Given the description of an element on the screen output the (x, y) to click on. 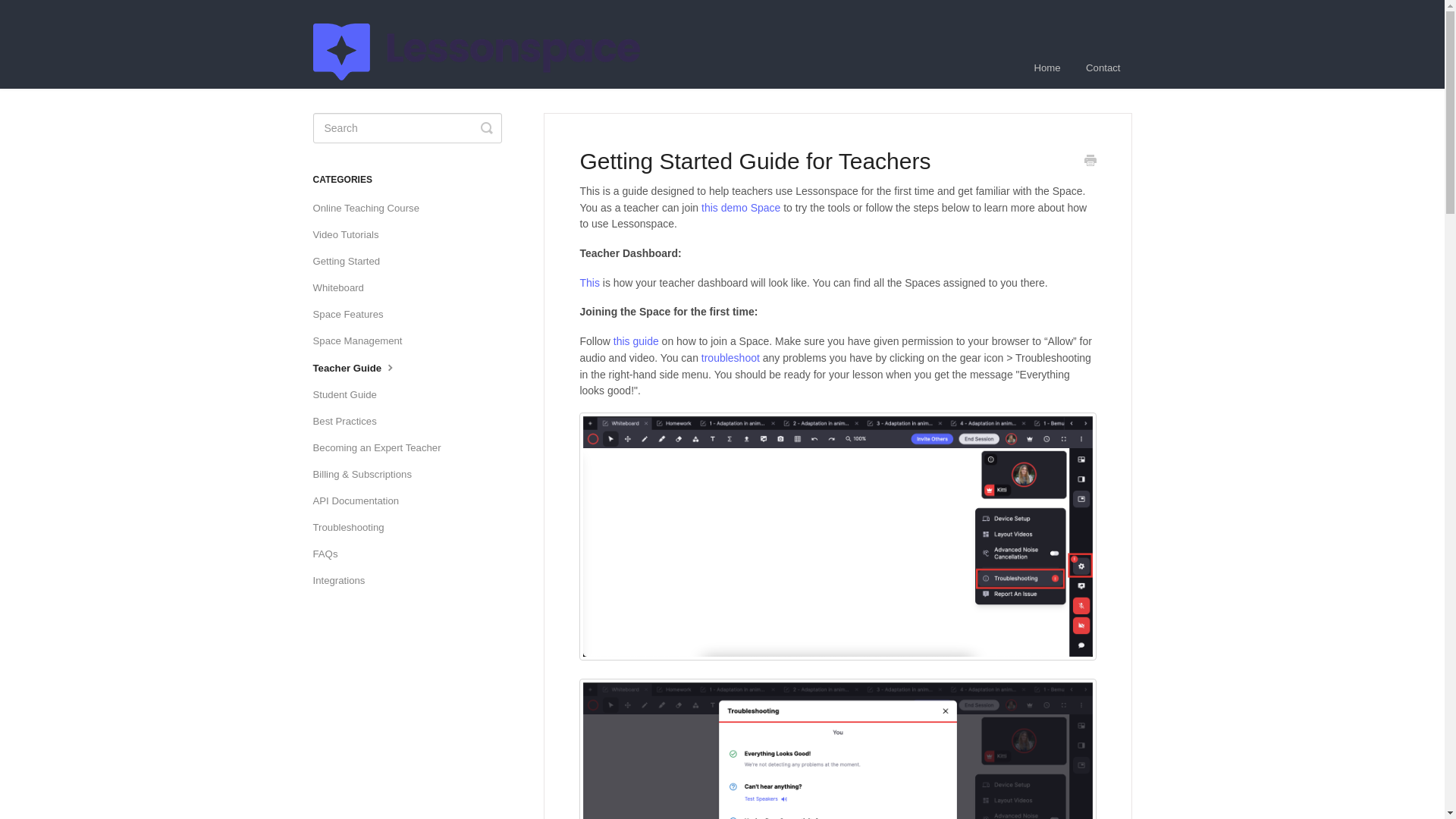
Home (1047, 67)
Space Features (353, 314)
Teacher Guide (361, 367)
Space Management (363, 340)
Video Tutorials (351, 234)
this guide (635, 340)
troubleshoot (730, 357)
this demo Space (740, 207)
This (588, 282)
search-query (406, 128)
